Given the description of an element on the screen output the (x, y) to click on. 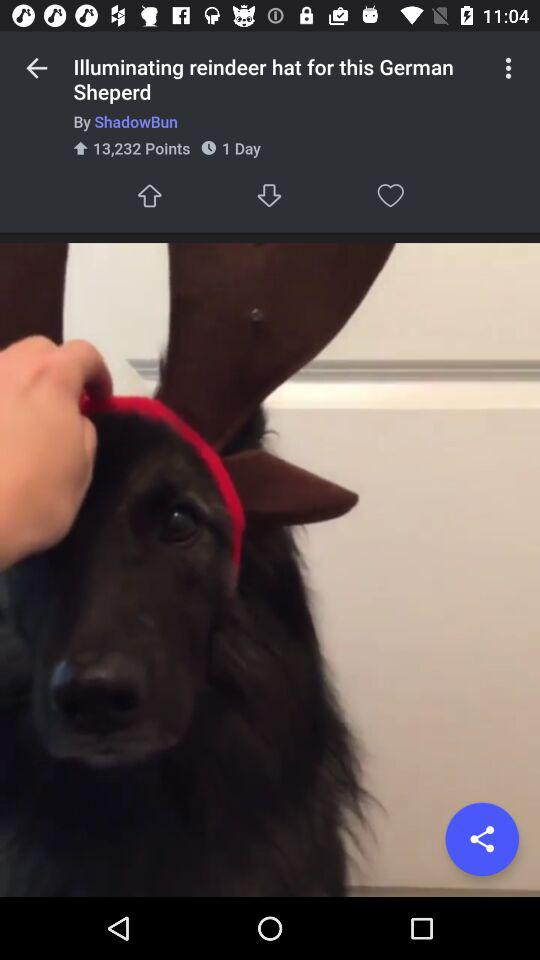
share the item (482, 839)
